Given the description of an element on the screen output the (x, y) to click on. 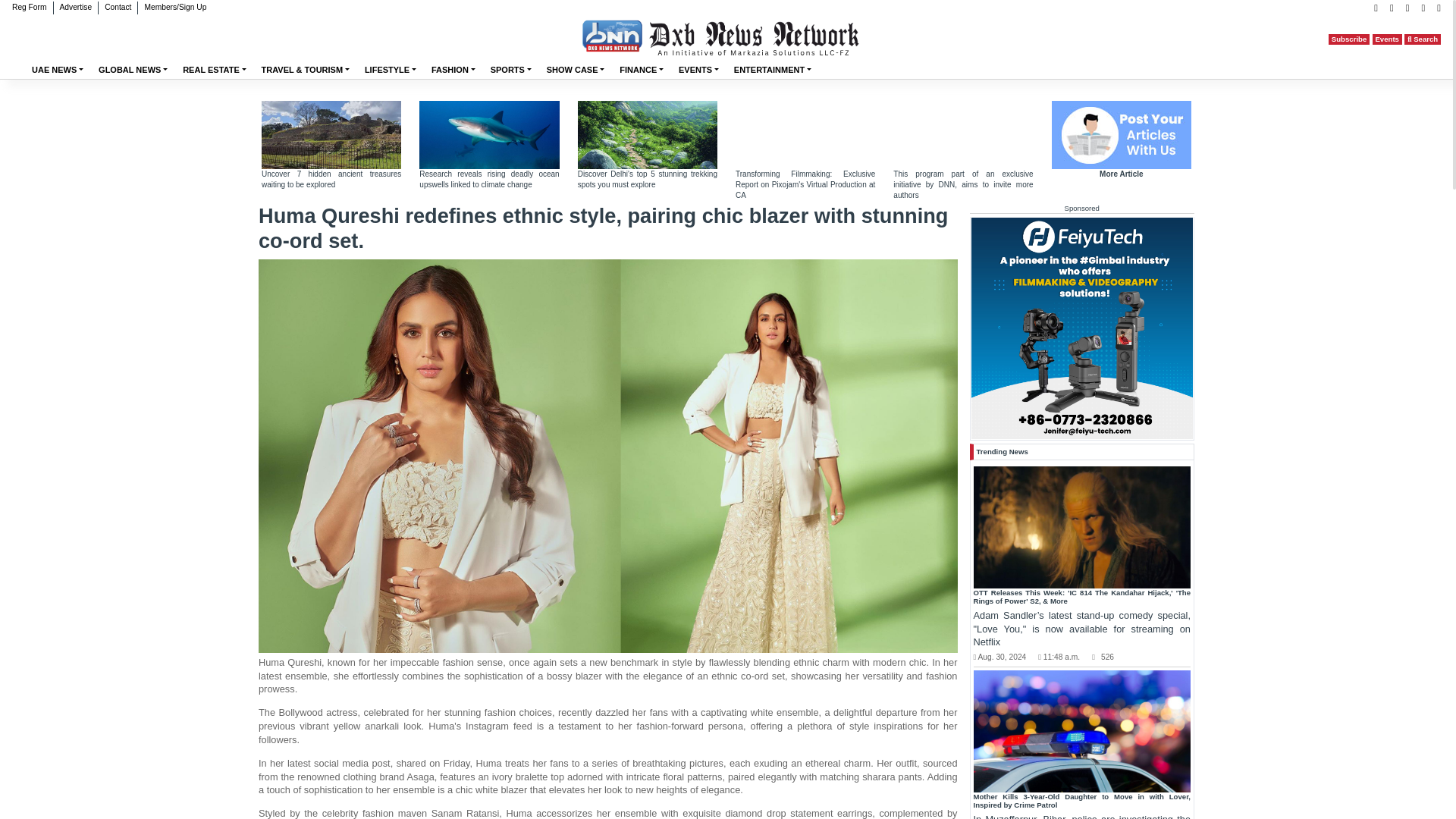
LIFESTYLE (389, 69)
UAE NEWS (57, 69)
FASHION (453, 69)
REAL ESTATE (213, 69)
Reg Form (28, 8)
Search (1423, 39)
SPORTS (510, 69)
Advertise (74, 8)
Events (1387, 39)
GLOBAL NEWS (132, 69)
